Given the description of an element on the screen output the (x, y) to click on. 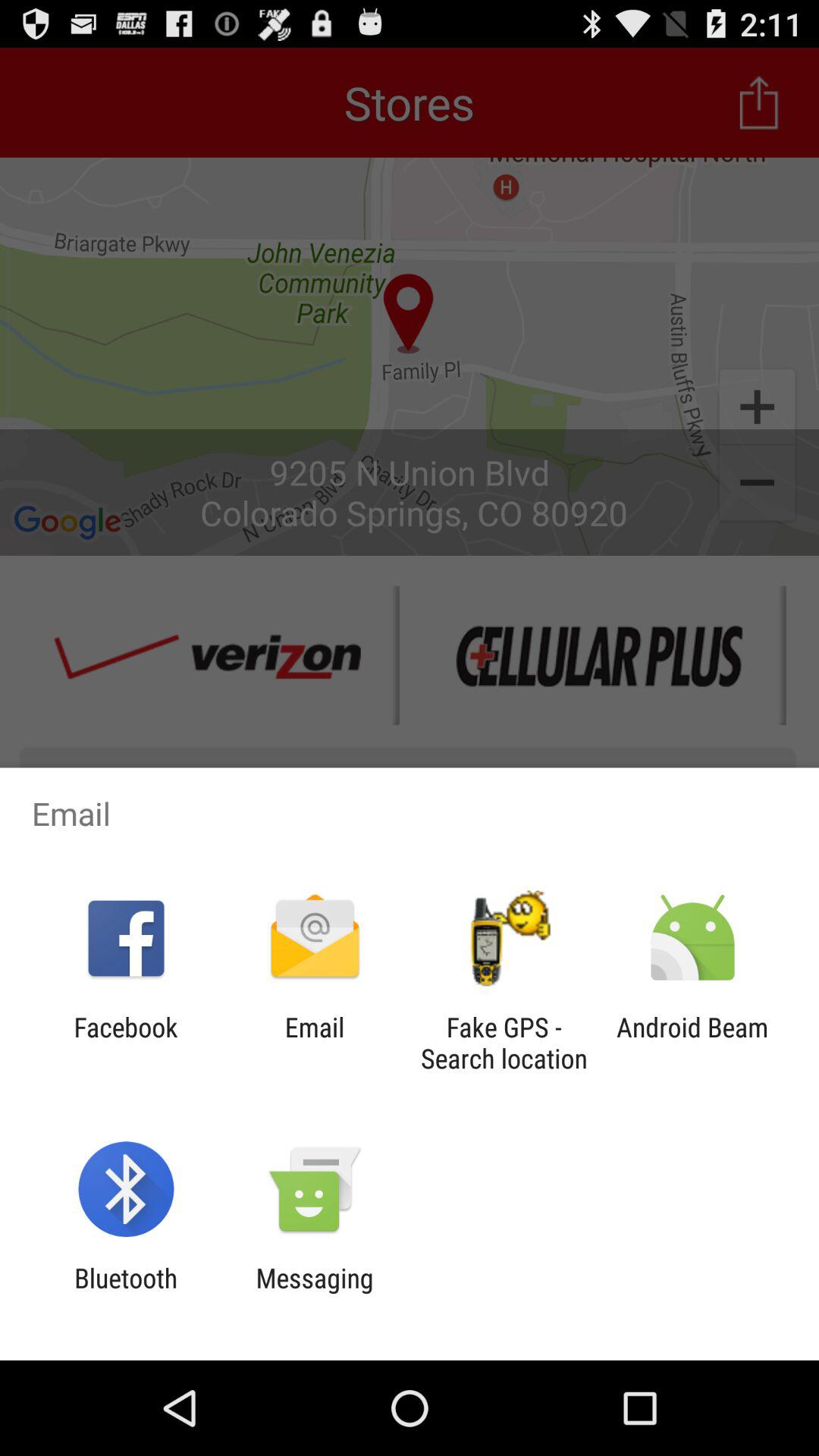
swipe until the bluetooth (125, 1293)
